Given the description of an element on the screen output the (x, y) to click on. 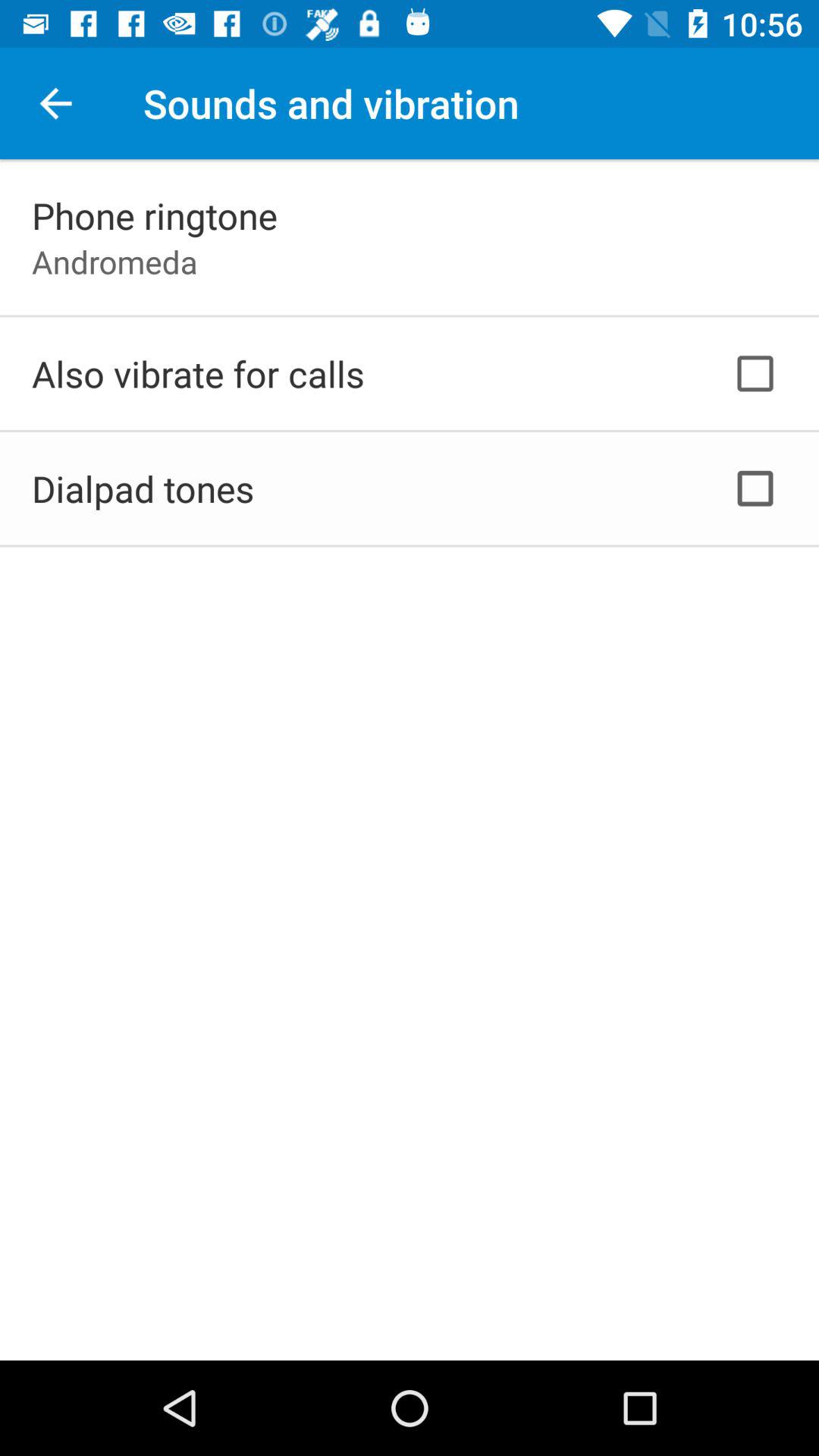
jump until also vibrate for (197, 373)
